Given the description of an element on the screen output the (x, y) to click on. 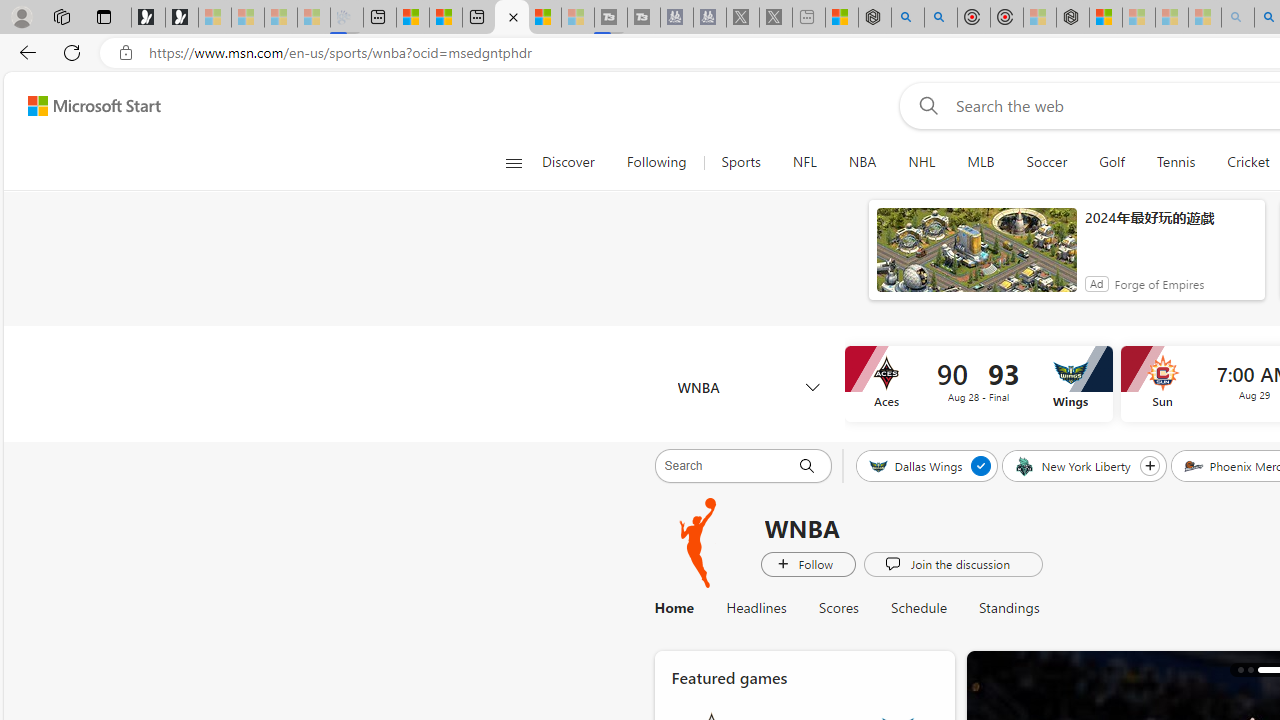
poe ++ standard - Search (941, 17)
Open navigation menu (513, 162)
Follow New York Liberty (1149, 465)
Nordace - Nordace Siena Is Not An Ordinary Backpack (1073, 17)
Join the discussion (952, 563)
NBA (862, 162)
WNBA (748, 386)
Sports (740, 162)
